Given the description of an element on the screen output the (x, y) to click on. 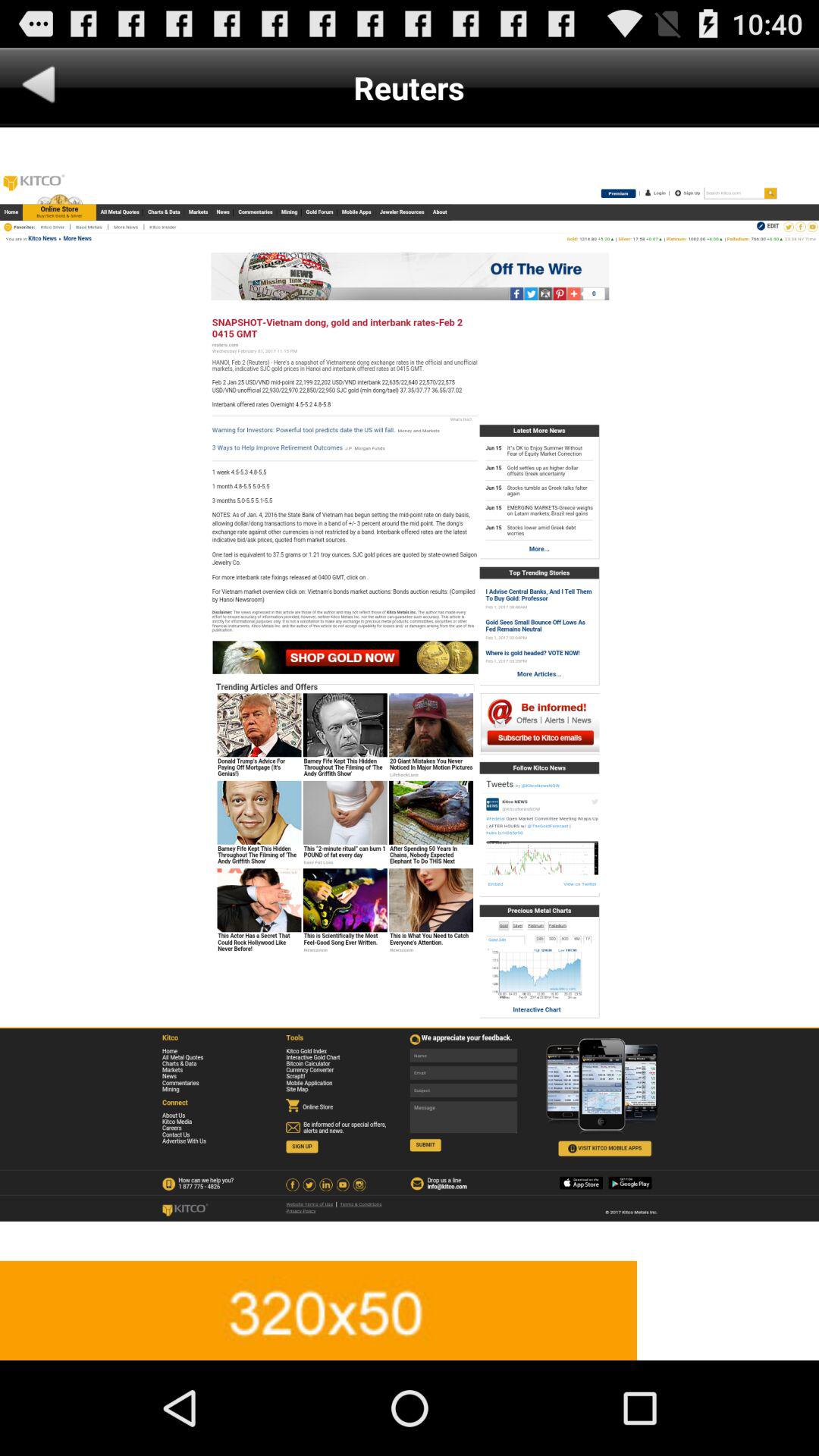
seeing in the paragraph (409, 693)
